Given the description of an element on the screen output the (x, y) to click on. 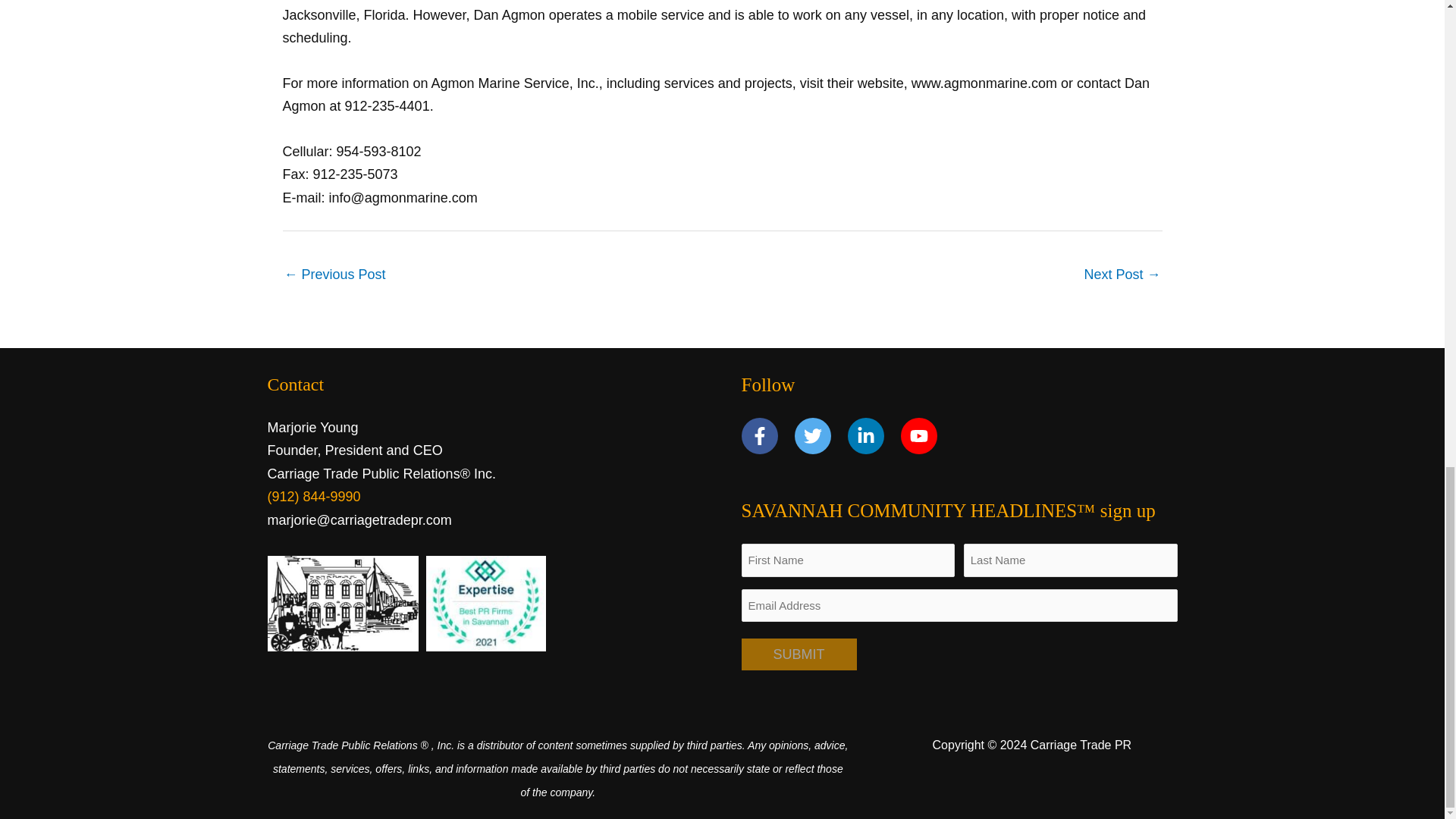
Submit (799, 654)
